Given the description of an element on the screen output the (x, y) to click on. 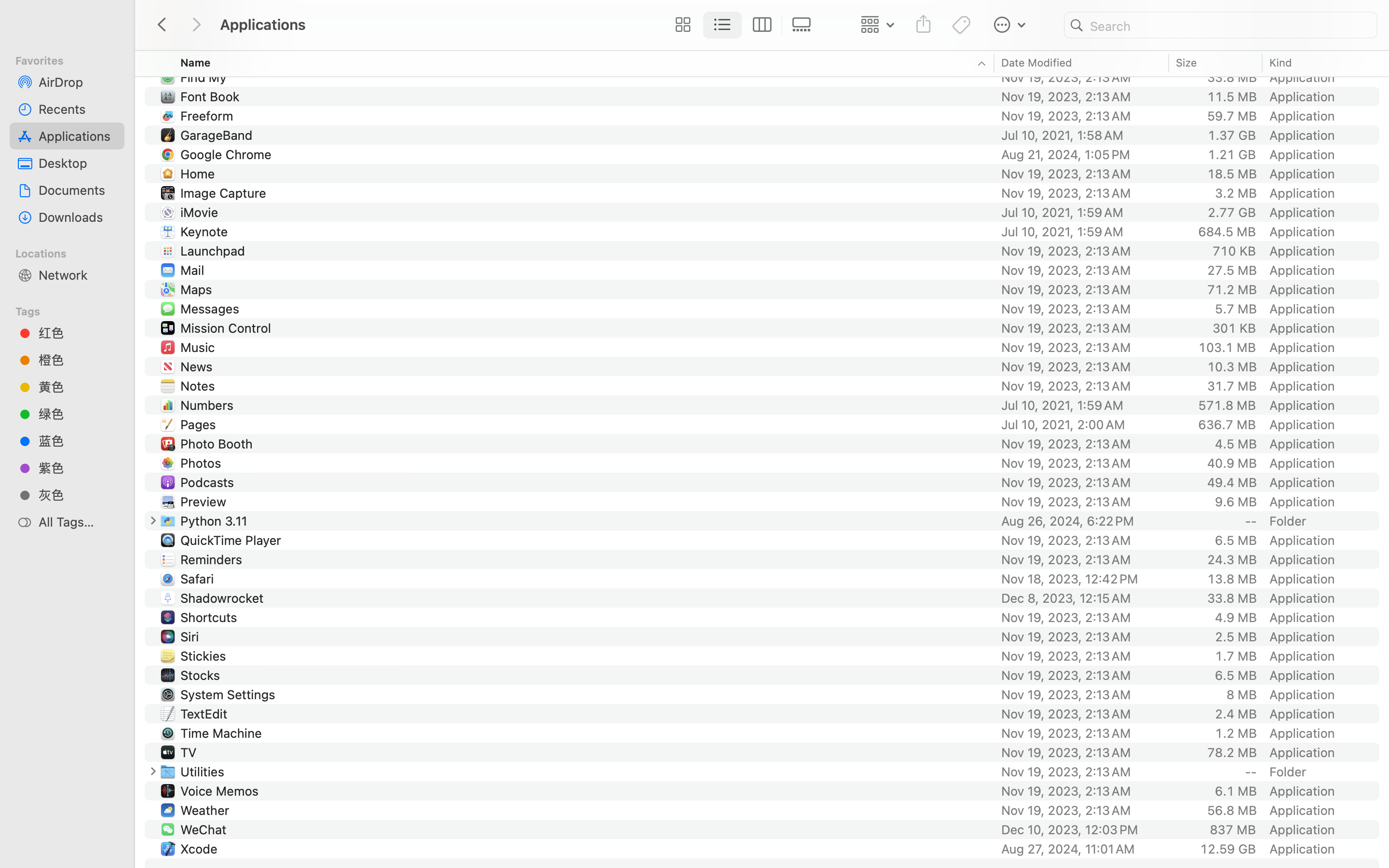
Favorites Element type: AXStaticText (72, 59)
Notes Element type: AXTextField (199, 385)
837 MB Element type: AXStaticText (1232, 829)
News Element type: AXTextField (198, 366)
1.37 GB Element type: AXStaticText (1231, 134)
